Given the description of an element on the screen output the (x, y) to click on. 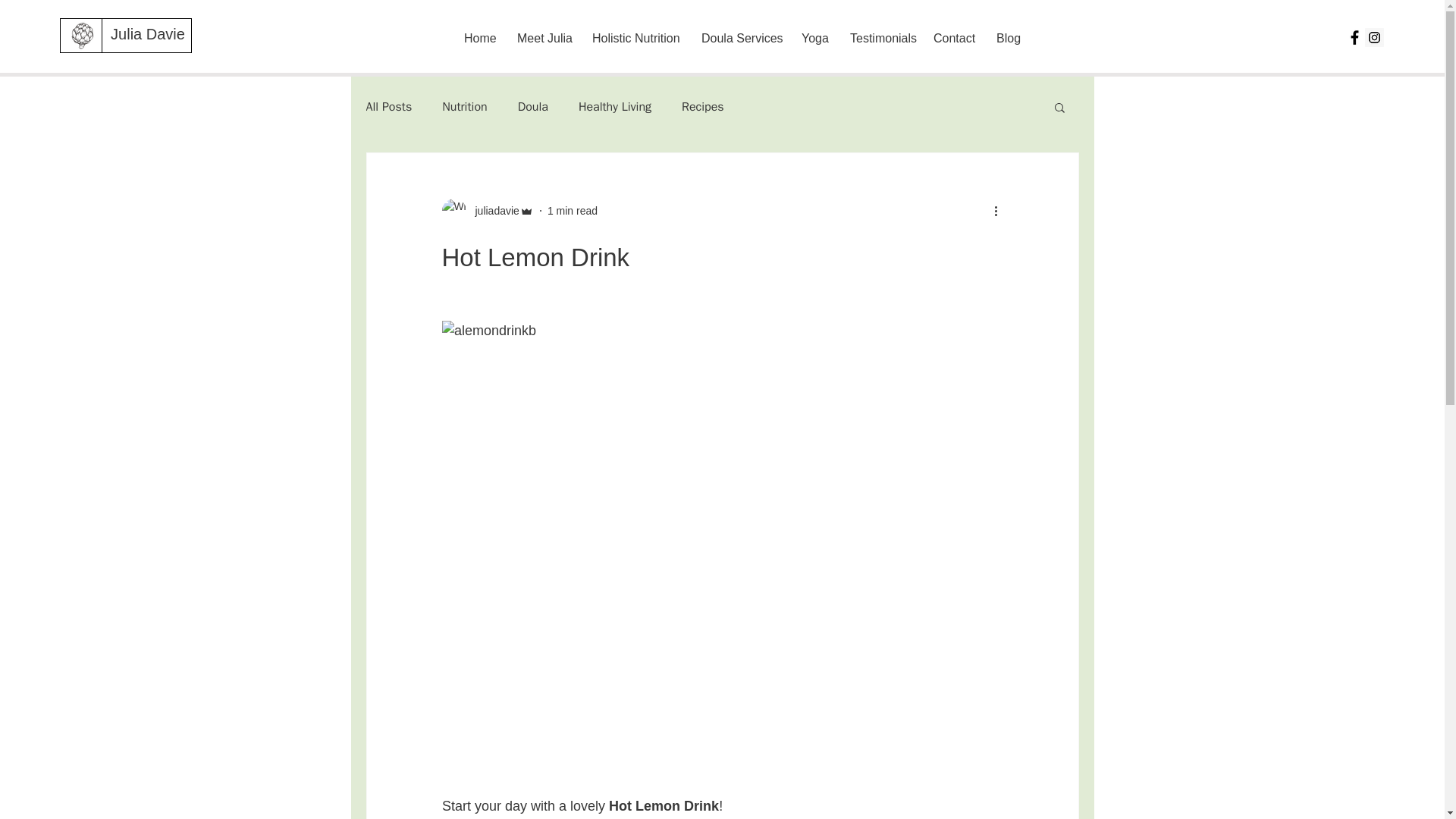
Holistic Nutrition (635, 38)
Contact (953, 38)
Doula (533, 106)
Meet Julia (542, 38)
Testimonials (879, 38)
Home (478, 38)
All Posts (388, 106)
1 min read (571, 210)
Julia Davie (147, 33)
Healthy Living (614, 106)
